Given the description of an element on the screen output the (x, y) to click on. 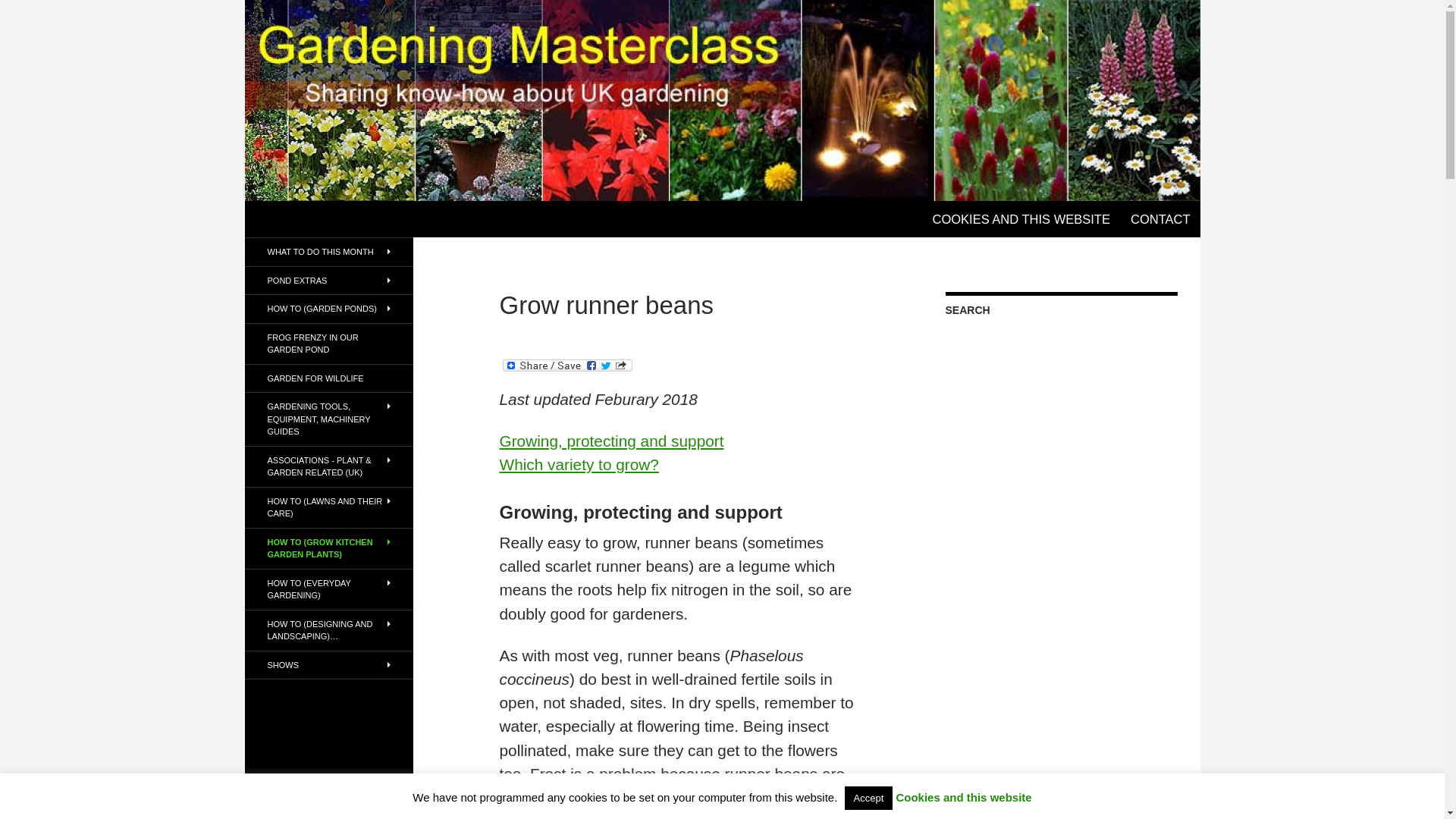
WHAT TO DO THIS MONTH (328, 252)
Visit Cookies and this website (962, 797)
Growing, protecting and support (611, 440)
CONTACT (1160, 218)
COOKIES AND THIS WEBSITE (1020, 218)
Which variety to grow? (579, 464)
visit Cookies and this website (1020, 218)
Visit Contact us (1160, 218)
POND EXTRAS (328, 280)
Gardening Masterclass (341, 218)
